Given the description of an element on the screen output the (x, y) to click on. 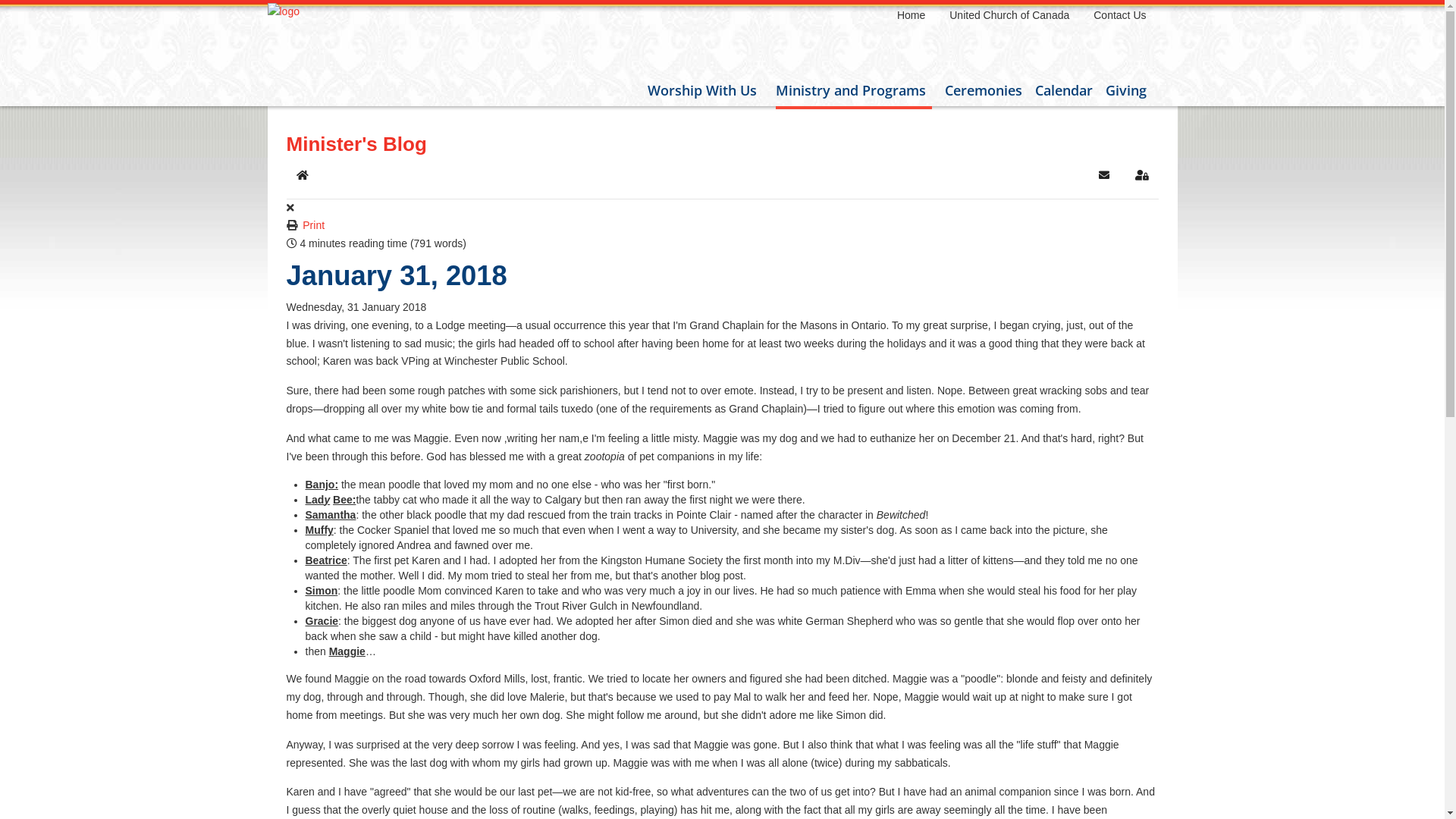
Ministry and Programs Element type: text (853, 91)
Contact Us Element type: text (1119, 15)
Calendar Element type: text (1063, 90)
Ceremonies Element type: text (983, 90)
United Church of Canada Element type: text (1009, 15)
Subscribe to blog Element type: text (1103, 174)
Print Element type: text (313, 225)
Worship With Us Element type: text (704, 90)
Home Element type: text (302, 174)
Home Element type: text (910, 15)
Giving Element type: text (1125, 90)
Sign In Element type: text (1141, 174)
